Given the description of an element on the screen output the (x, y) to click on. 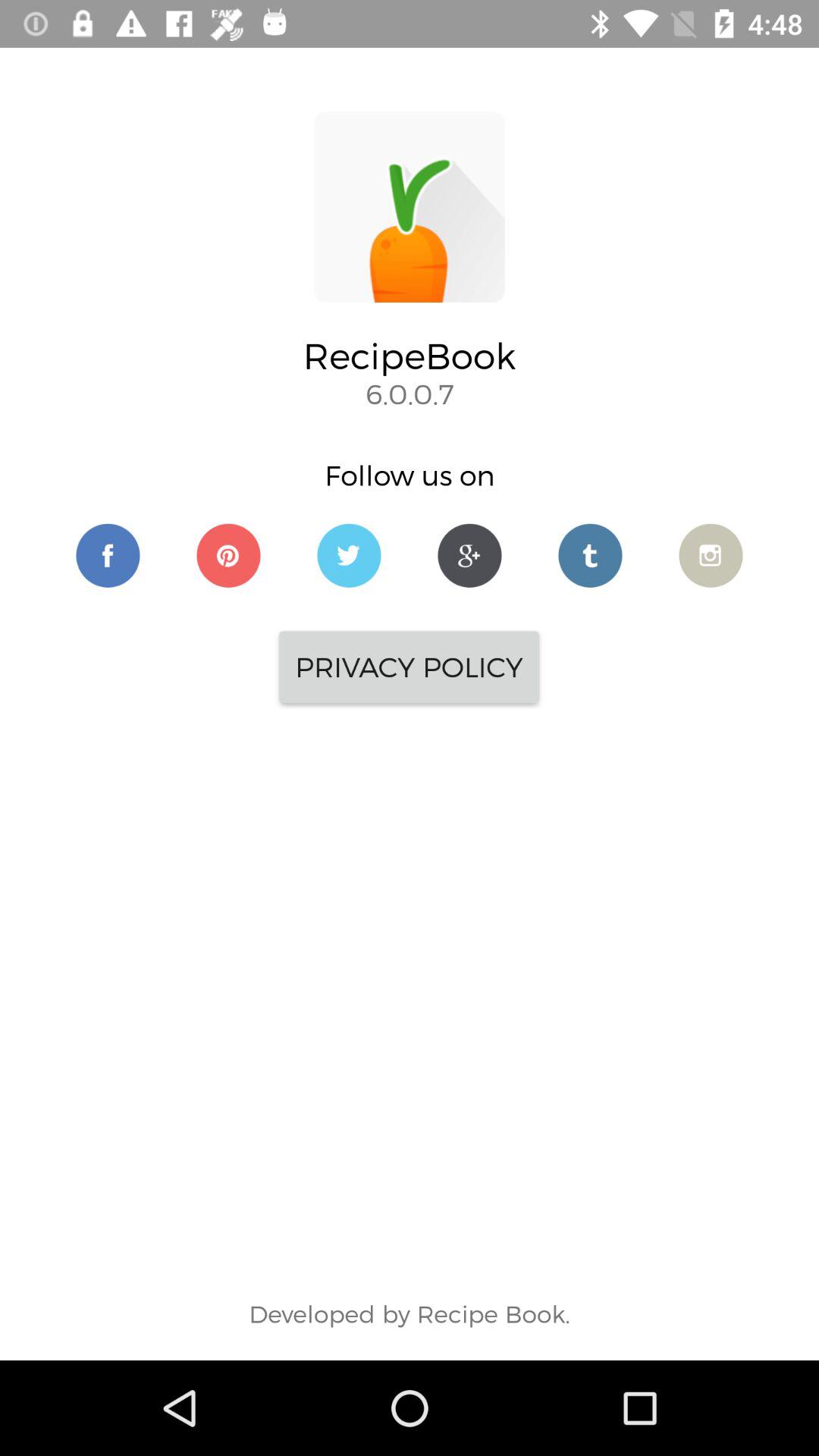
click to follow on twitter (348, 555)
